Given the description of an element on the screen output the (x, y) to click on. 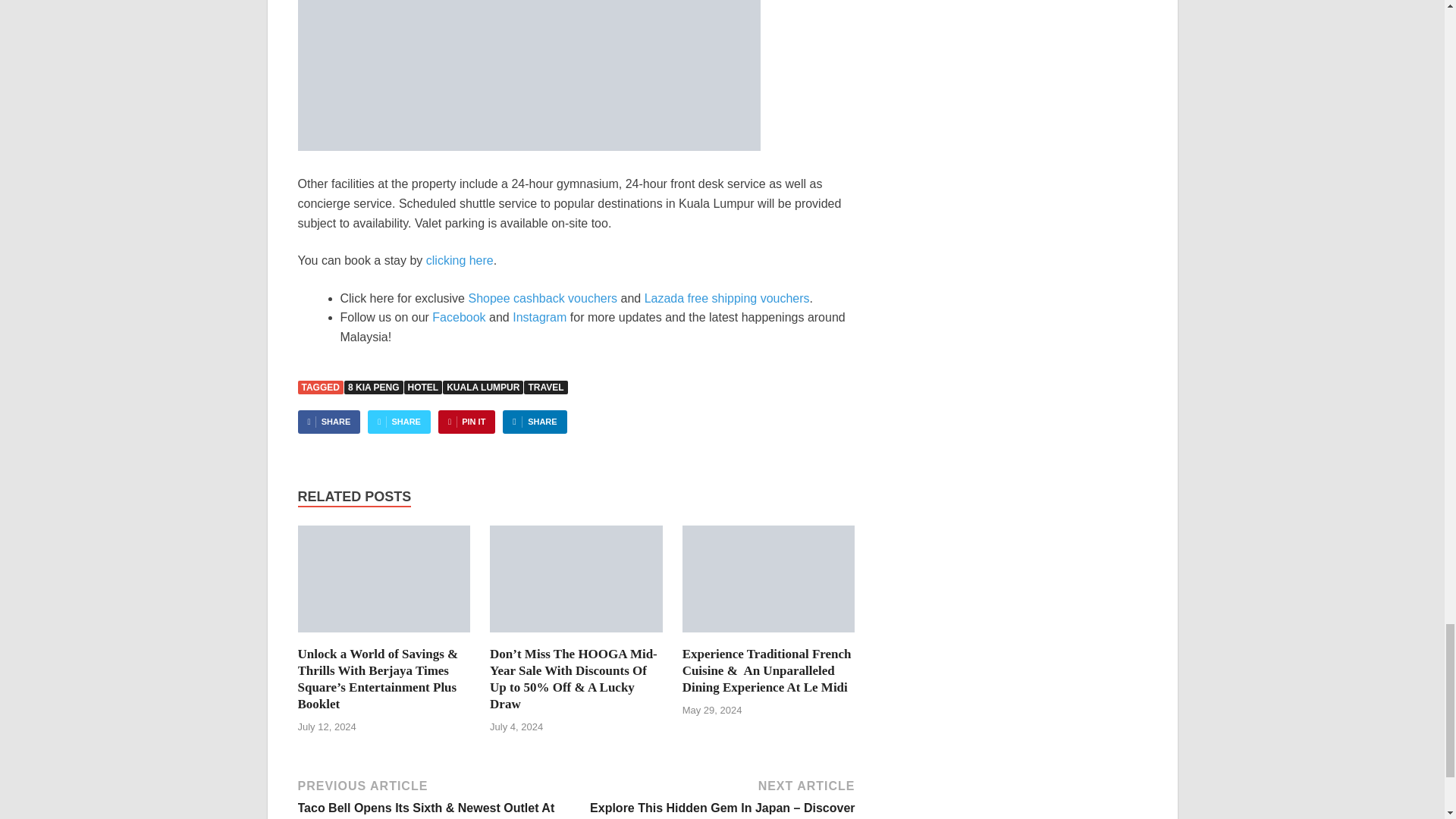
HOTEL (423, 386)
Shopee cashback vouchers (542, 297)
clicking here (459, 259)
Instagram (539, 317)
8 KIA PENG (373, 386)
SHARE (399, 422)
PIN IT (466, 422)
SHARE (534, 422)
TRAVEL (545, 386)
Lazada free shipping vouchers (727, 297)
